Given the description of an element on the screen output the (x, y) to click on. 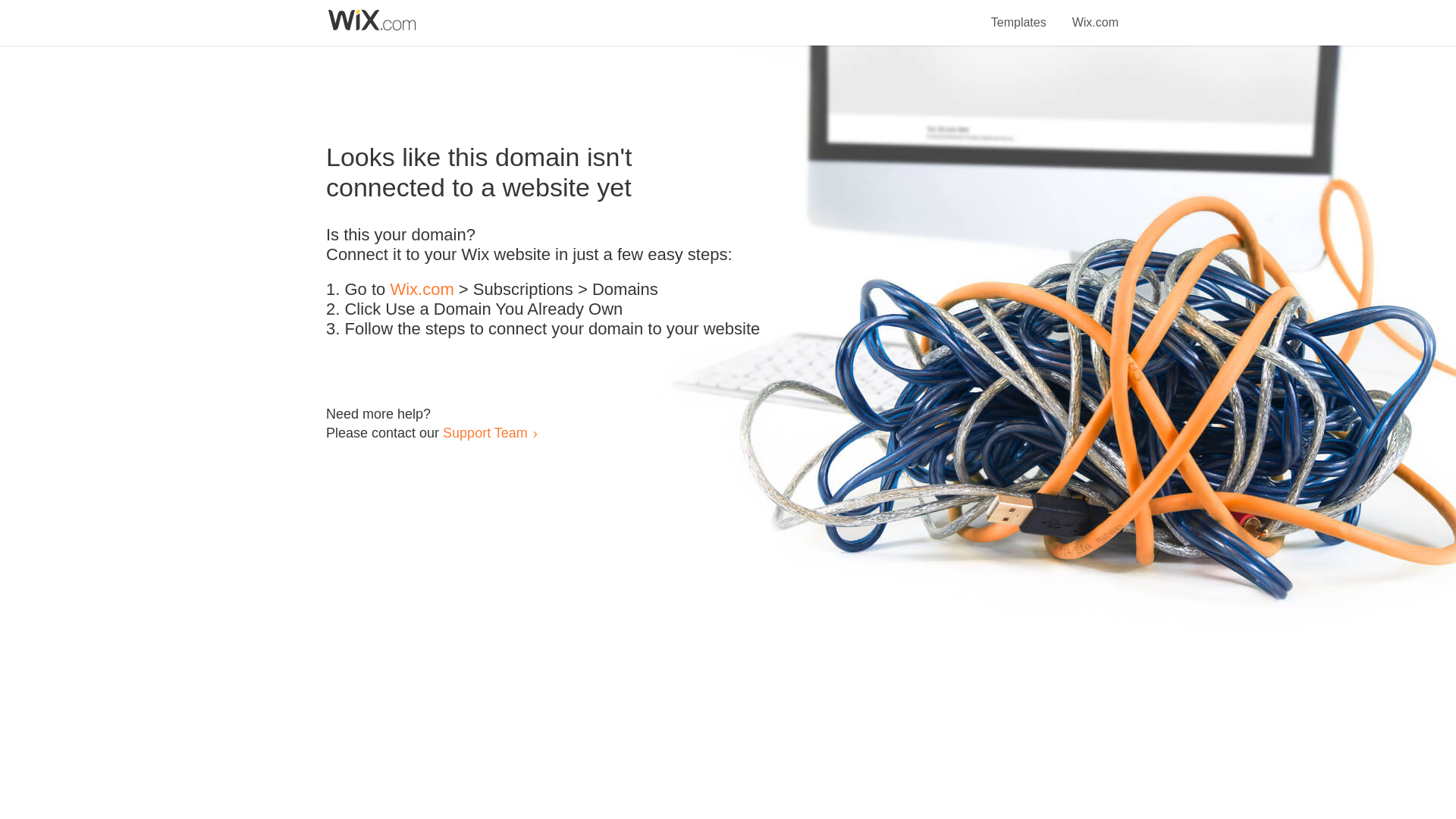
Wix.com (1095, 14)
Wix.com (421, 289)
Support Team (484, 432)
Templates (1018, 14)
